Given the description of an element on the screen output the (x, y) to click on. 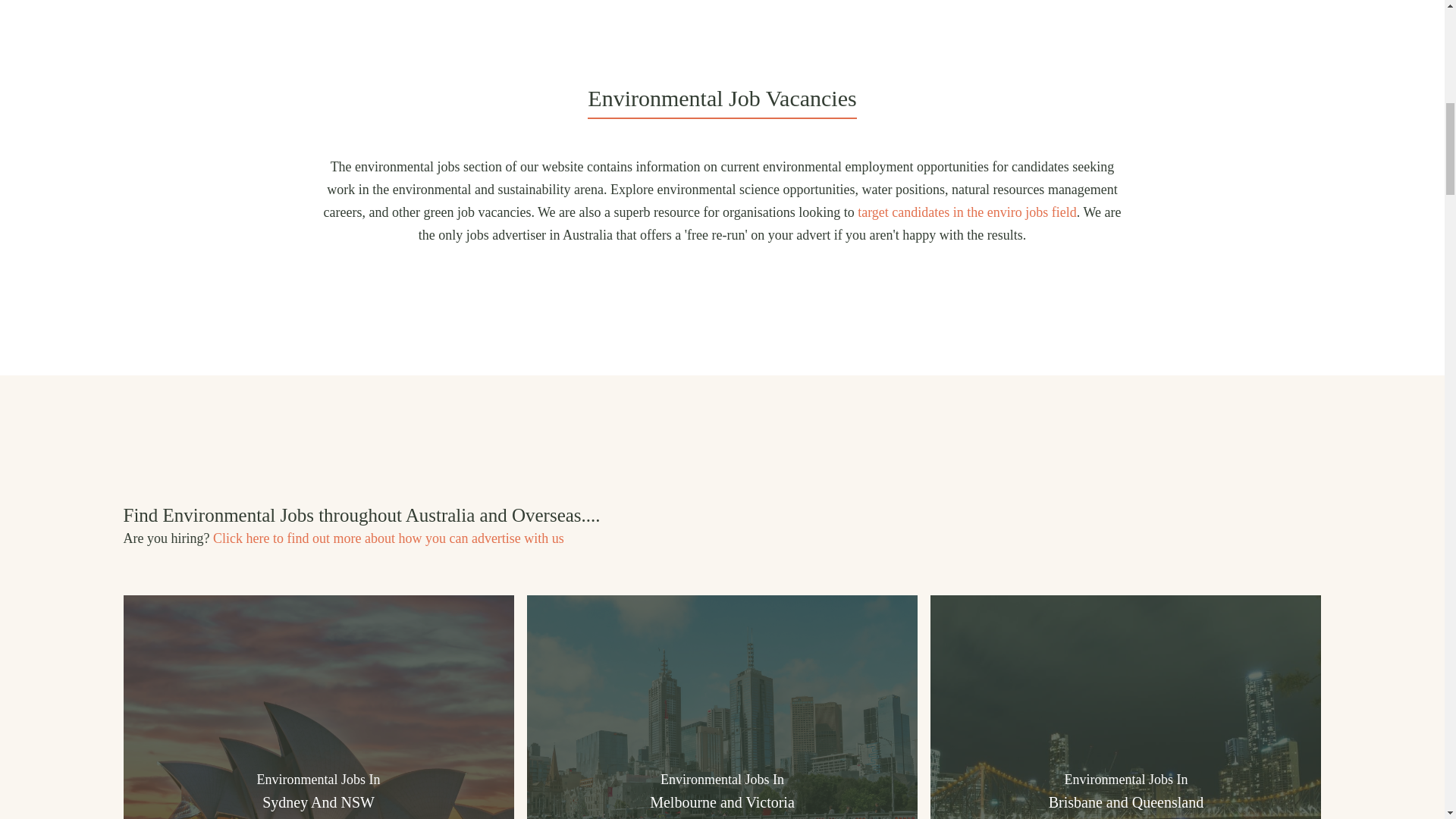
target candidates in the enviro jobs field (967, 212)
